Given the description of an element on the screen output the (x, y) to click on. 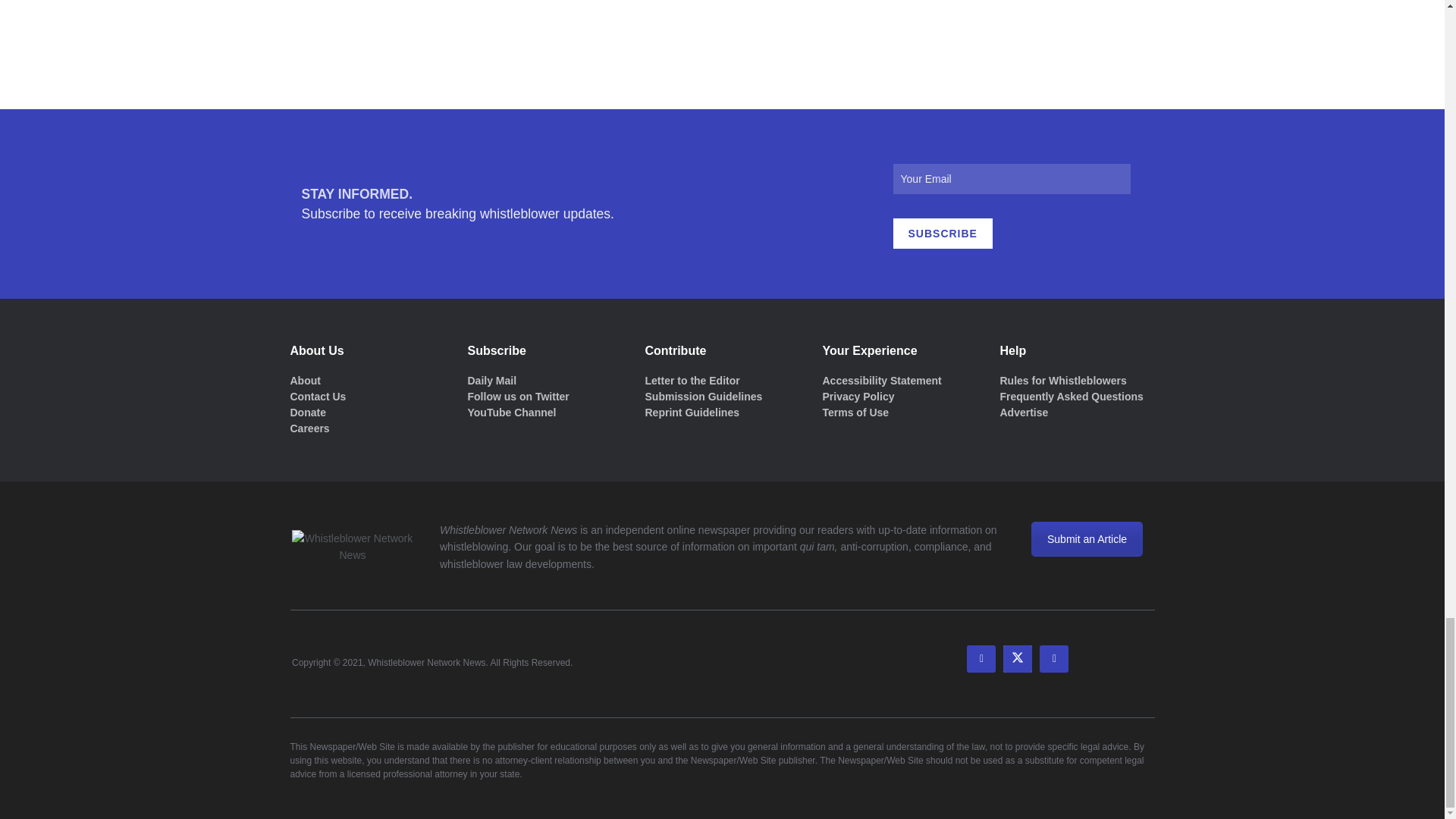
About Us (304, 380)
Donate Today (306, 412)
Subscribe (942, 233)
